Given the description of an element on the screen output the (x, y) to click on. 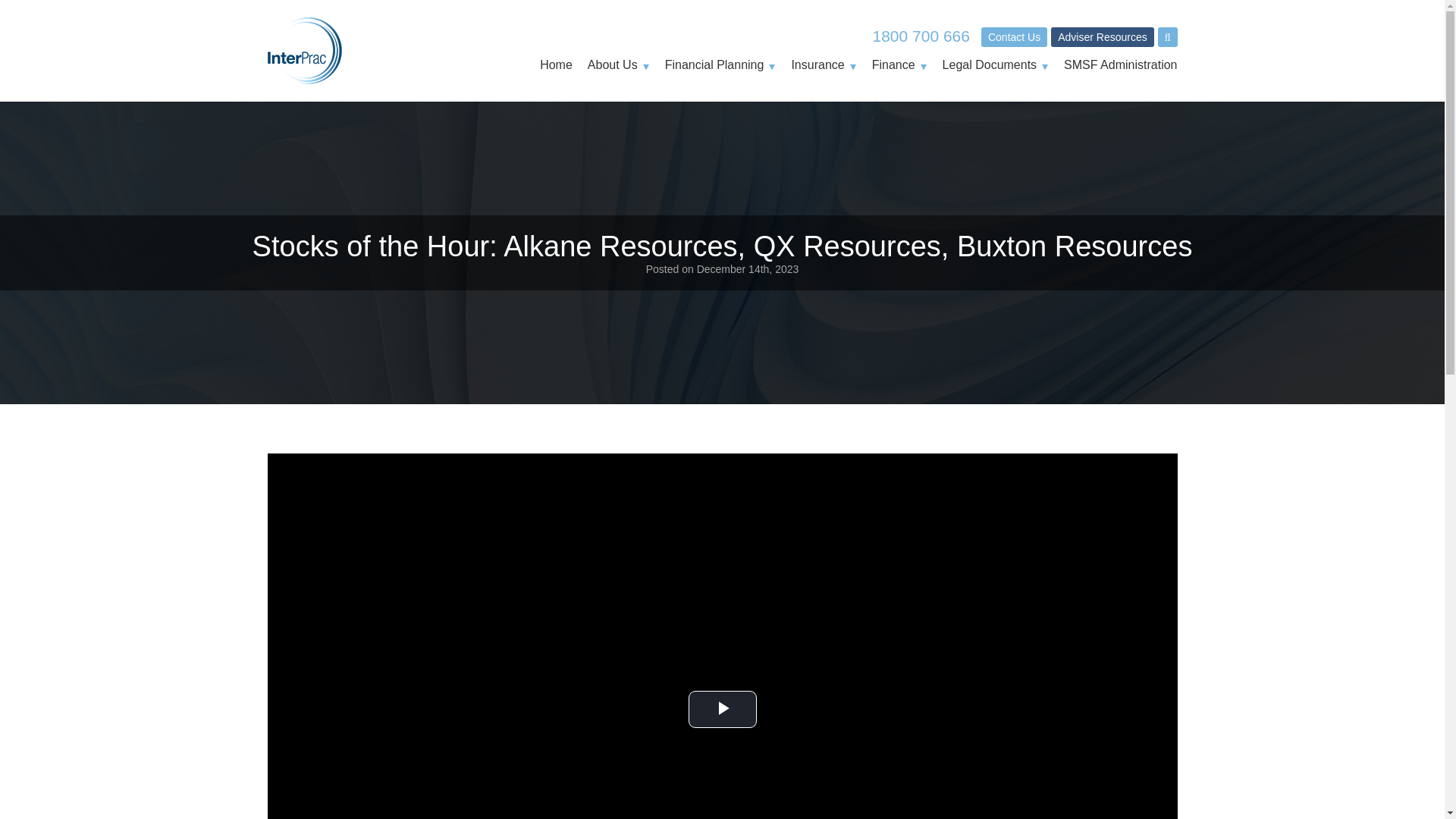
1800 700 666 (920, 36)
Insurance (823, 65)
Adviser Resources (1102, 36)
Home (556, 65)
Contact Us (1013, 36)
About Us (618, 65)
Financial Planning (720, 65)
Play Video (722, 709)
Finance (899, 65)
